Given the description of an element on the screen output the (x, y) to click on. 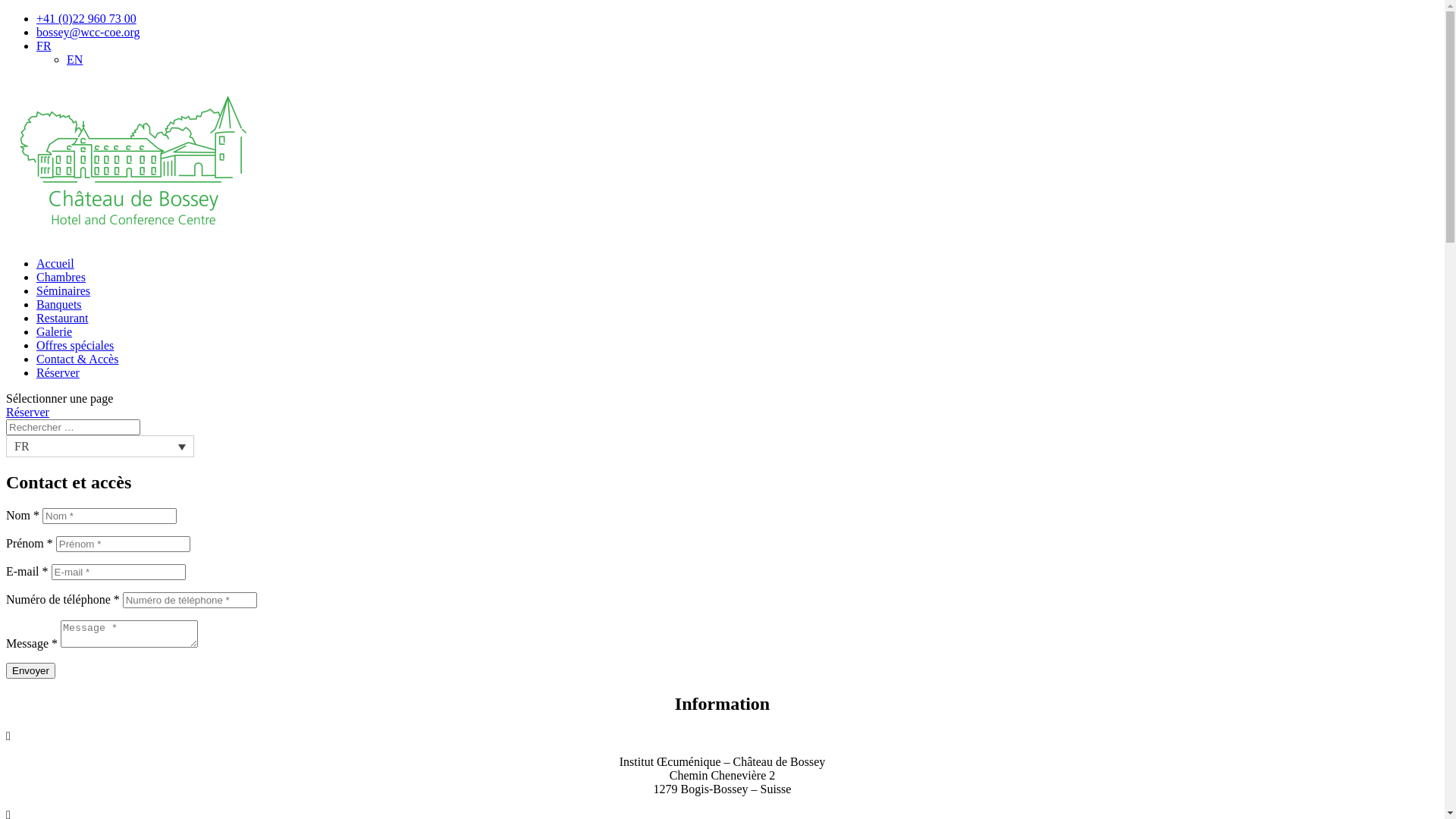
Envoyer Element type: text (30, 670)
+41 (0)22 960 73 00 Element type: text (86, 18)
Banquets Element type: text (58, 304)
FR Element type: text (100, 446)
EN Element type: text (74, 59)
FR Element type: text (43, 45)
Rechercher: Element type: hover (73, 427)
Chambres Element type: text (60, 276)
Galerie Element type: text (54, 331)
Restaurant Element type: text (61, 317)
Accueil Element type: text (55, 263)
bossey@wcc-coe.org Element type: text (88, 31)
